Given the description of an element on the screen output the (x, y) to click on. 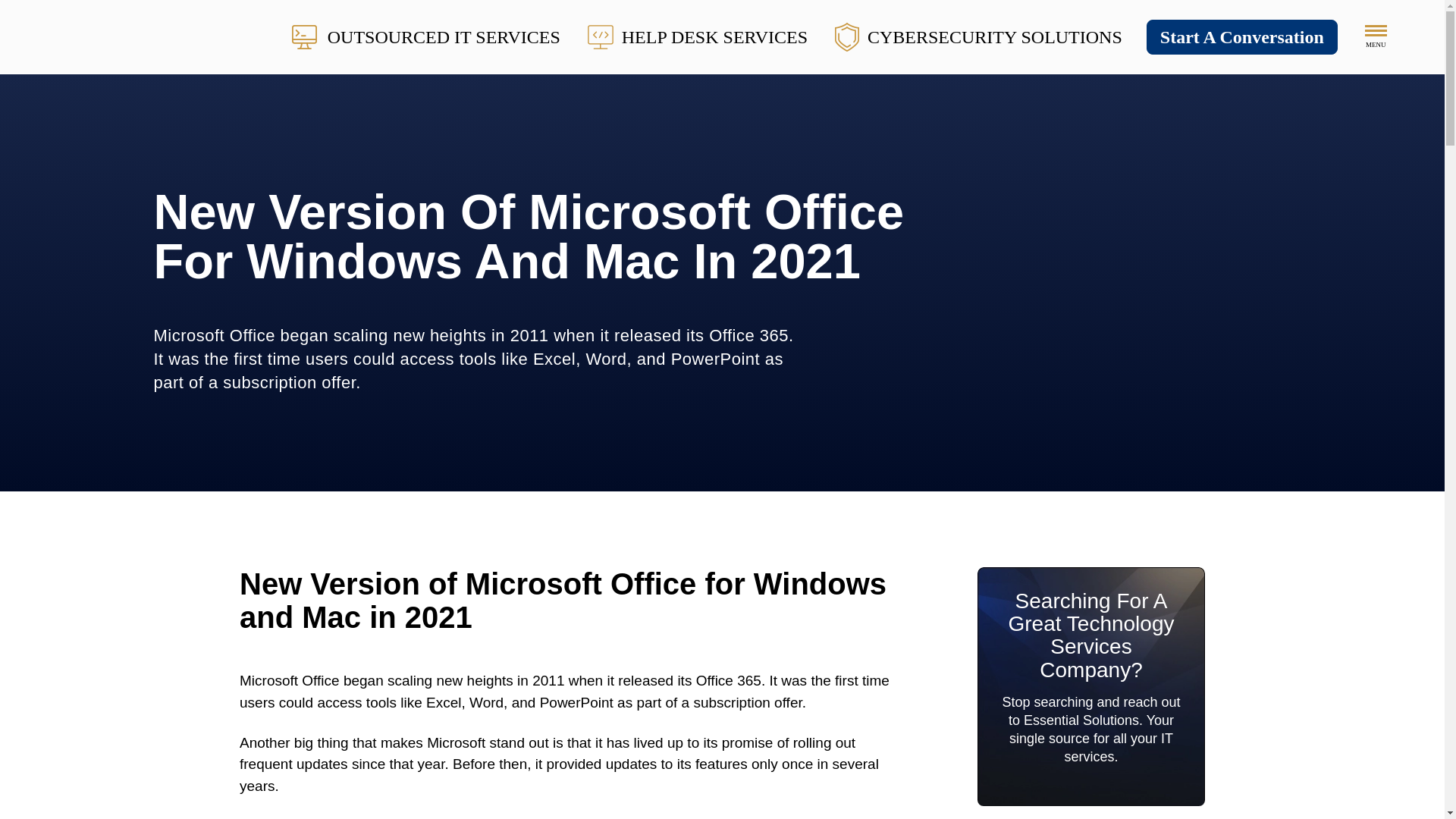
MENU (1376, 36)
HELP DESK SERVICES (698, 36)
EssentialLogo (155, 36)
OUTSOURCED IT SERVICES (426, 36)
Start A Conversation (1242, 36)
CYBERSECURITY SOLUTIONS (978, 36)
